Given the description of an element on the screen output the (x, y) to click on. 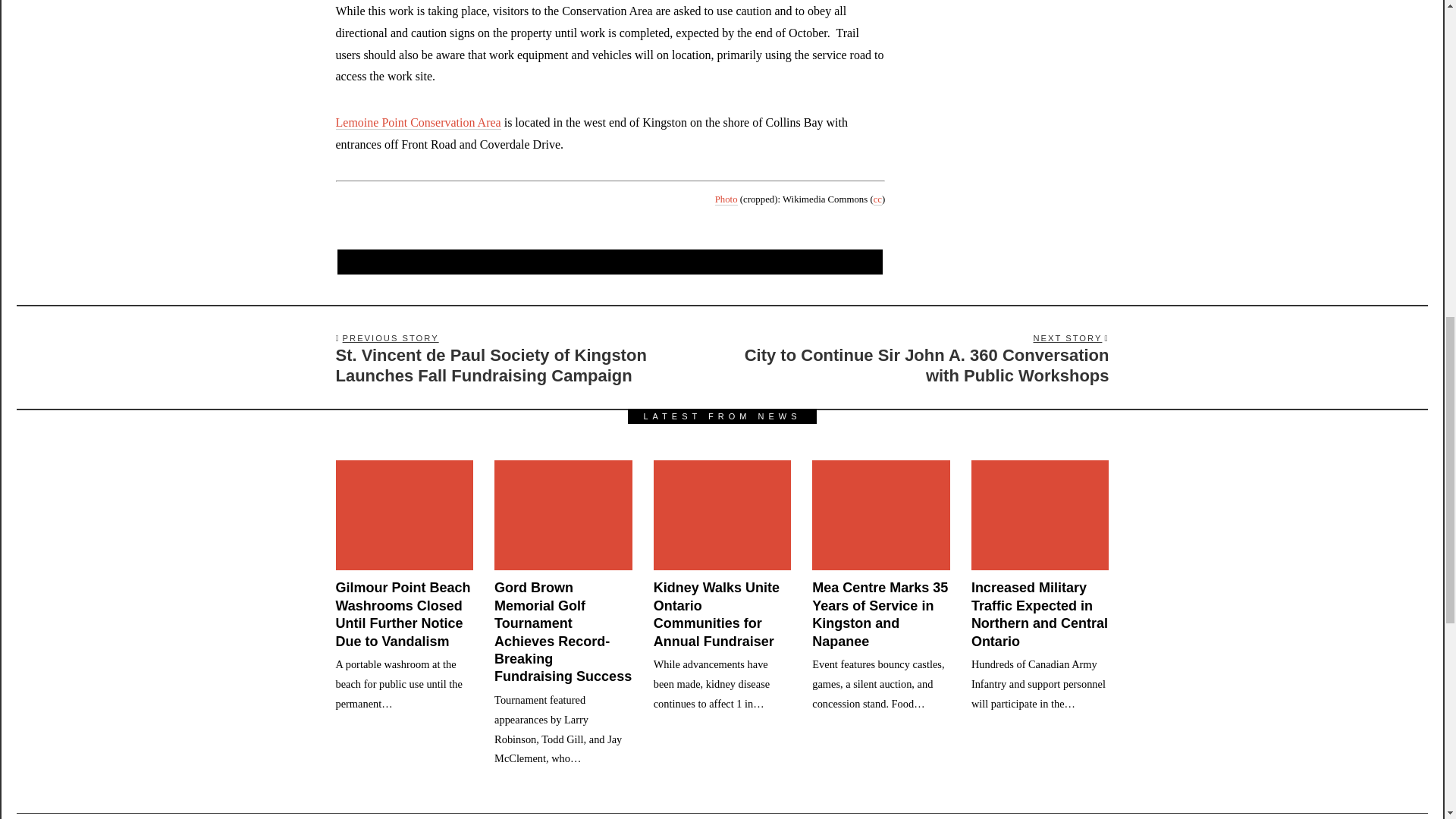
Kidney Walks Unite Ontario Communities for Annual Fundraiser (715, 613)
Lemoine Point Conservation Area (417, 122)
Photo (726, 199)
Mea Centre Marks 35 Years of Service in Kingston and Napanee (879, 613)
